Given the description of an element on the screen output the (x, y) to click on. 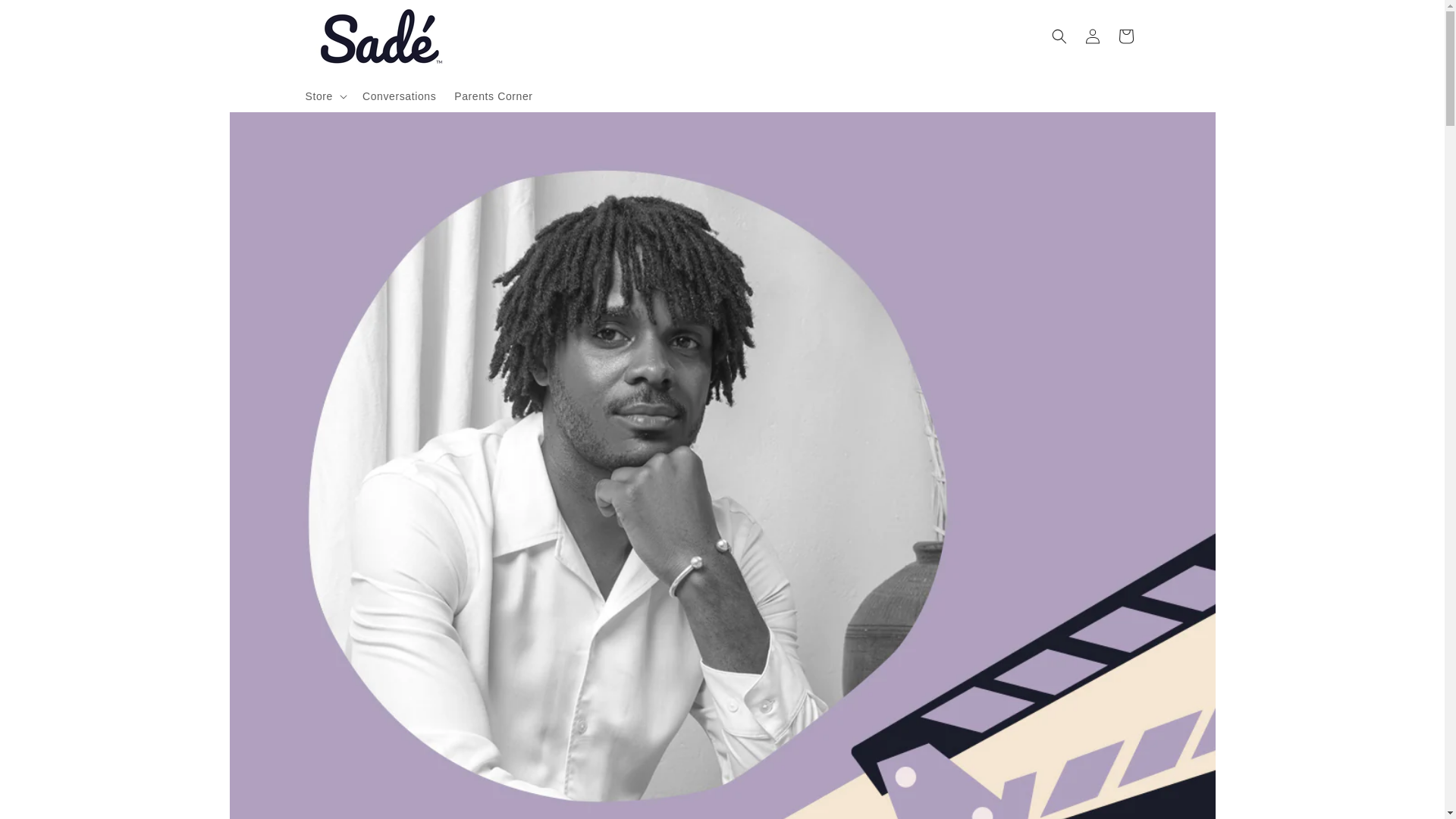
Conversations (399, 96)
Parents Corner (493, 96)
Cart (1124, 36)
Skip to content (45, 17)
Log in (1091, 36)
